Given the description of an element on the screen output the (x, y) to click on. 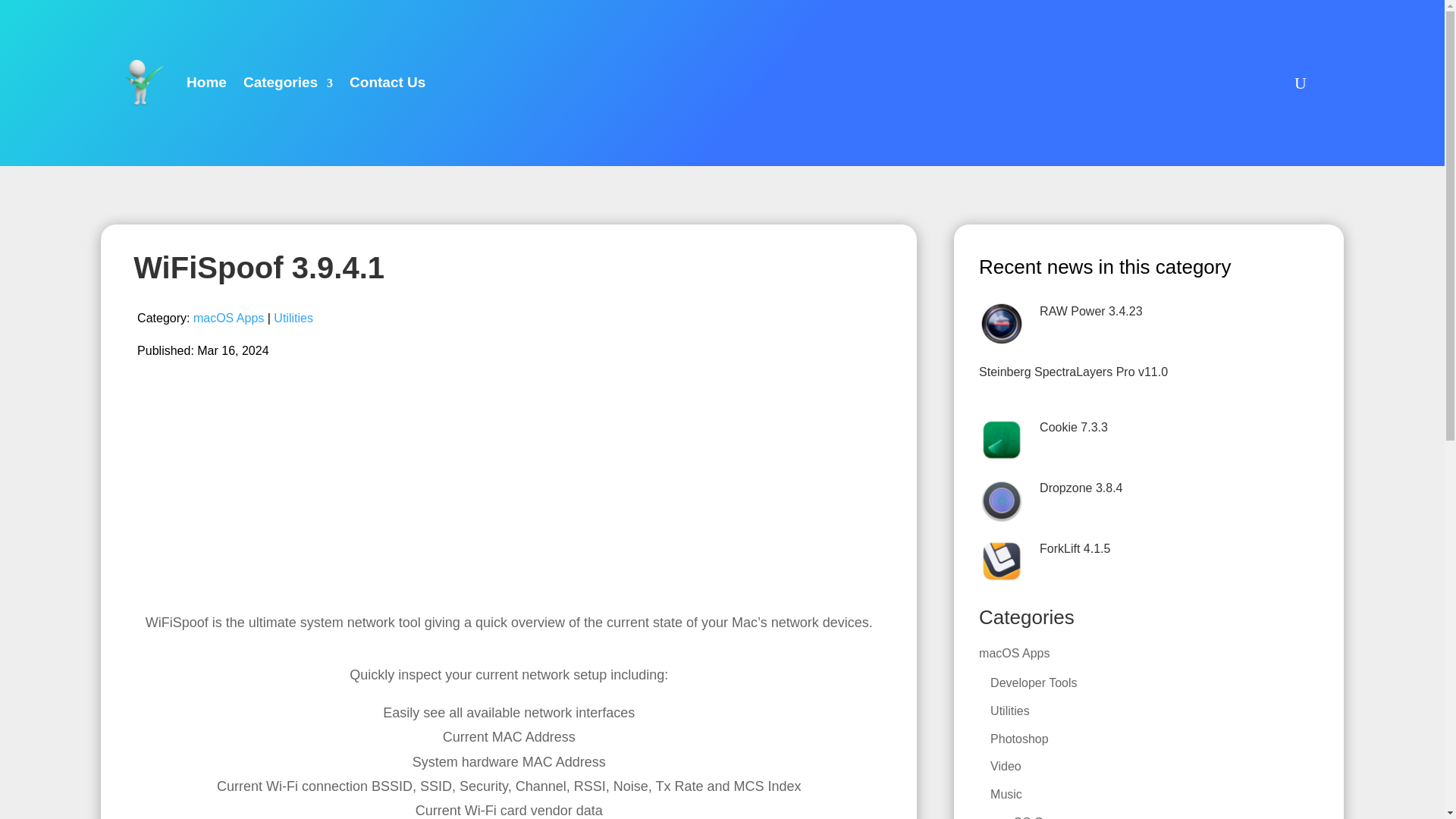
macOS Apps (228, 318)
Utilities (293, 318)
macOS Apps (1013, 653)
Categories (288, 83)
RAW Power 3.4.23 (1090, 310)
ForkLift 4.1.5 (1074, 548)
Video (1006, 766)
Cookie 7.3.3 (1073, 427)
Contact Us (387, 83)
Dropzone 3.8.4 (1080, 487)
Utilities (1009, 710)
macOS Games (1031, 817)
Photoshop (1019, 738)
Developer Tools (1033, 682)
Music (1006, 793)
